Given the description of an element on the screen output the (x, y) to click on. 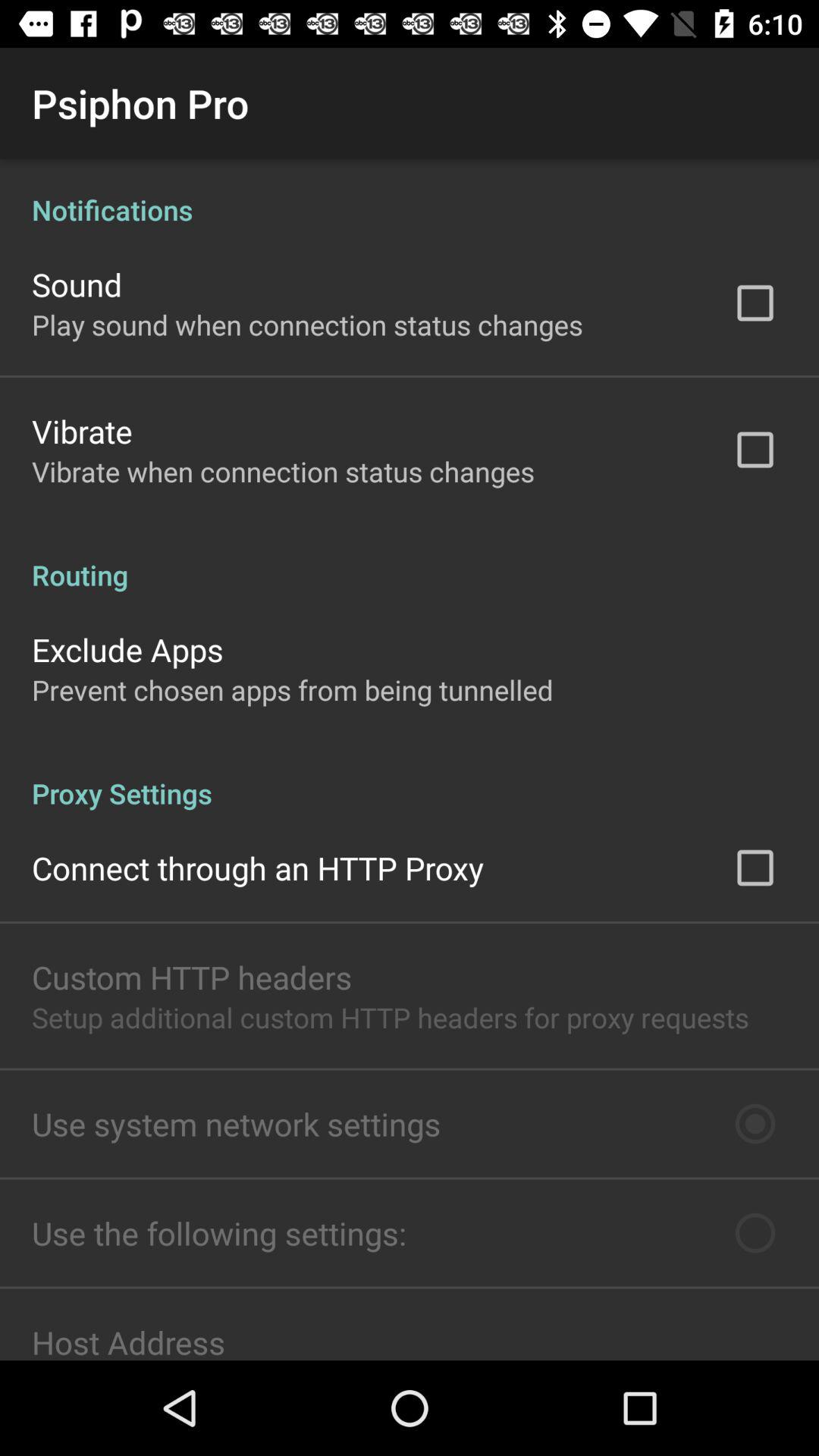
tap item above the vibrate item (306, 324)
